Given the description of an element on the screen output the (x, y) to click on. 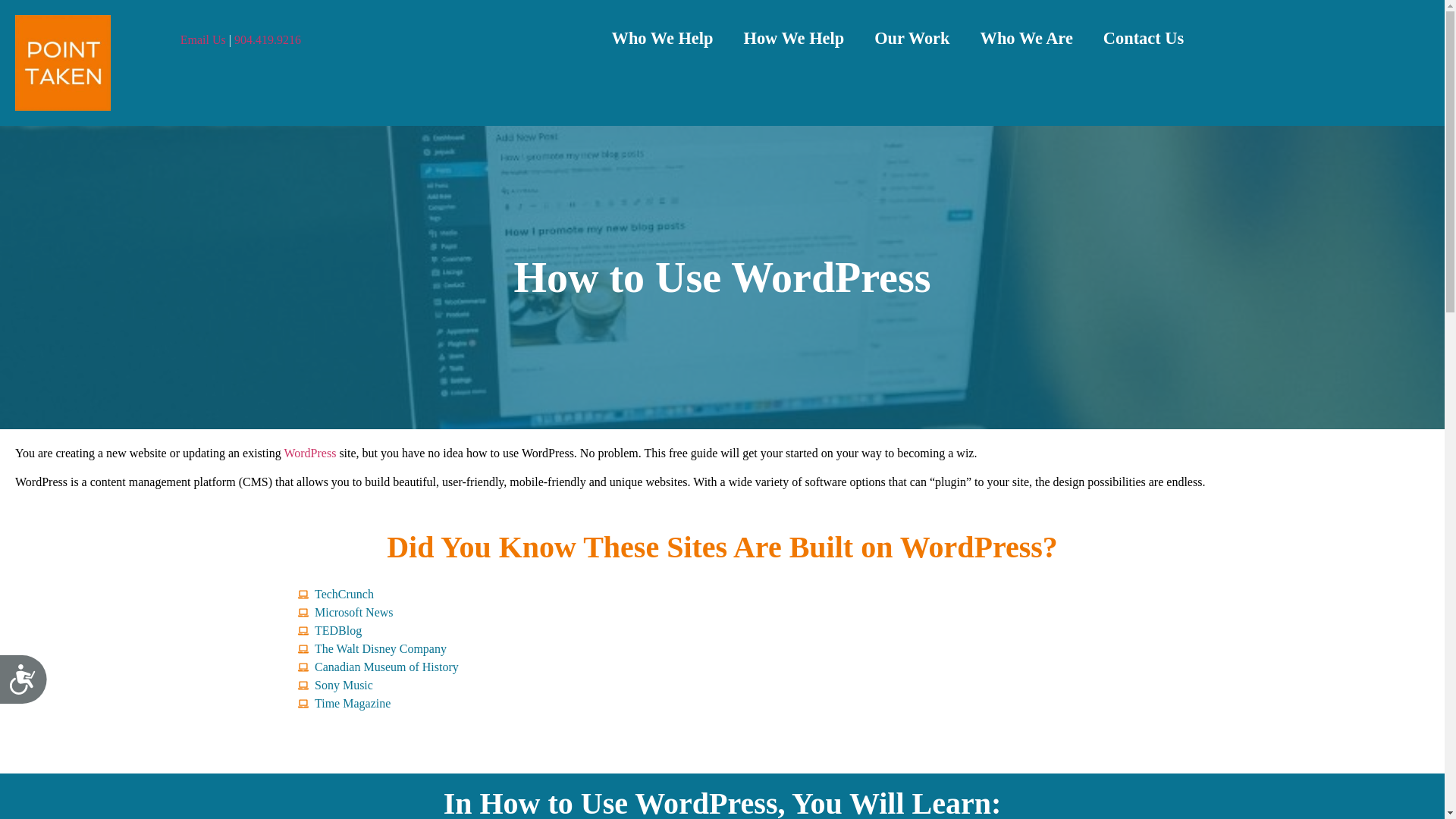
Who We Help (662, 38)
Contact Us (1142, 38)
TechCrunch (722, 594)
Our Work (911, 38)
Email Us (202, 39)
904.419.9216 (267, 39)
Who We Are (1026, 38)
The Walt Disney Company (722, 648)
How We Help (793, 38)
Accessibility (29, 685)
Microsoft News (722, 612)
WordPress (309, 452)
Canadian Museum of History (722, 667)
Sony Music (722, 685)
TEDBlog (722, 630)
